Given the description of an element on the screen output the (x, y) to click on. 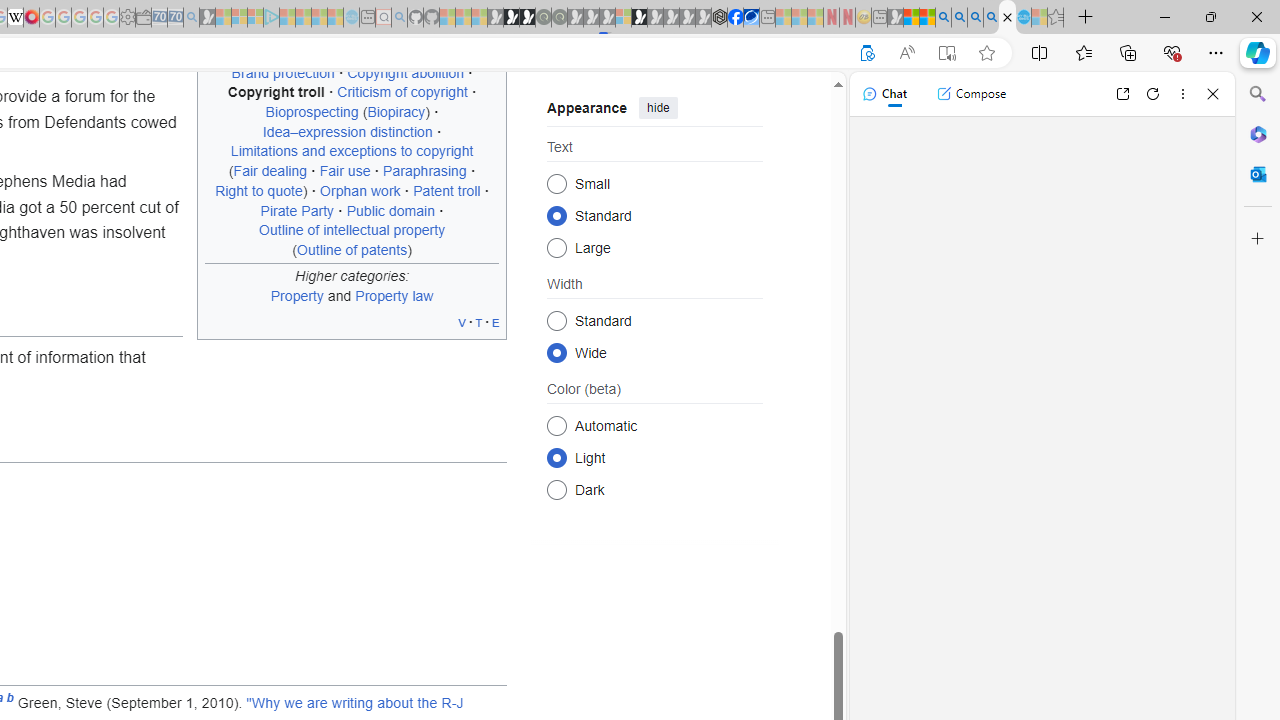
Microsoft Start - Sleeping (319, 17)
Property (296, 295)
e (495, 322)
e (495, 322)
Browser essentials (1171, 52)
New tab - Sleeping (879, 17)
Criticism of copyright (402, 92)
Favorites (1083, 52)
Microsoft Start Gaming - Sleeping (207, 17)
Close Outlook pane (1258, 174)
Right to quote (259, 190)
